Given the description of an element on the screen output the (x, y) to click on. 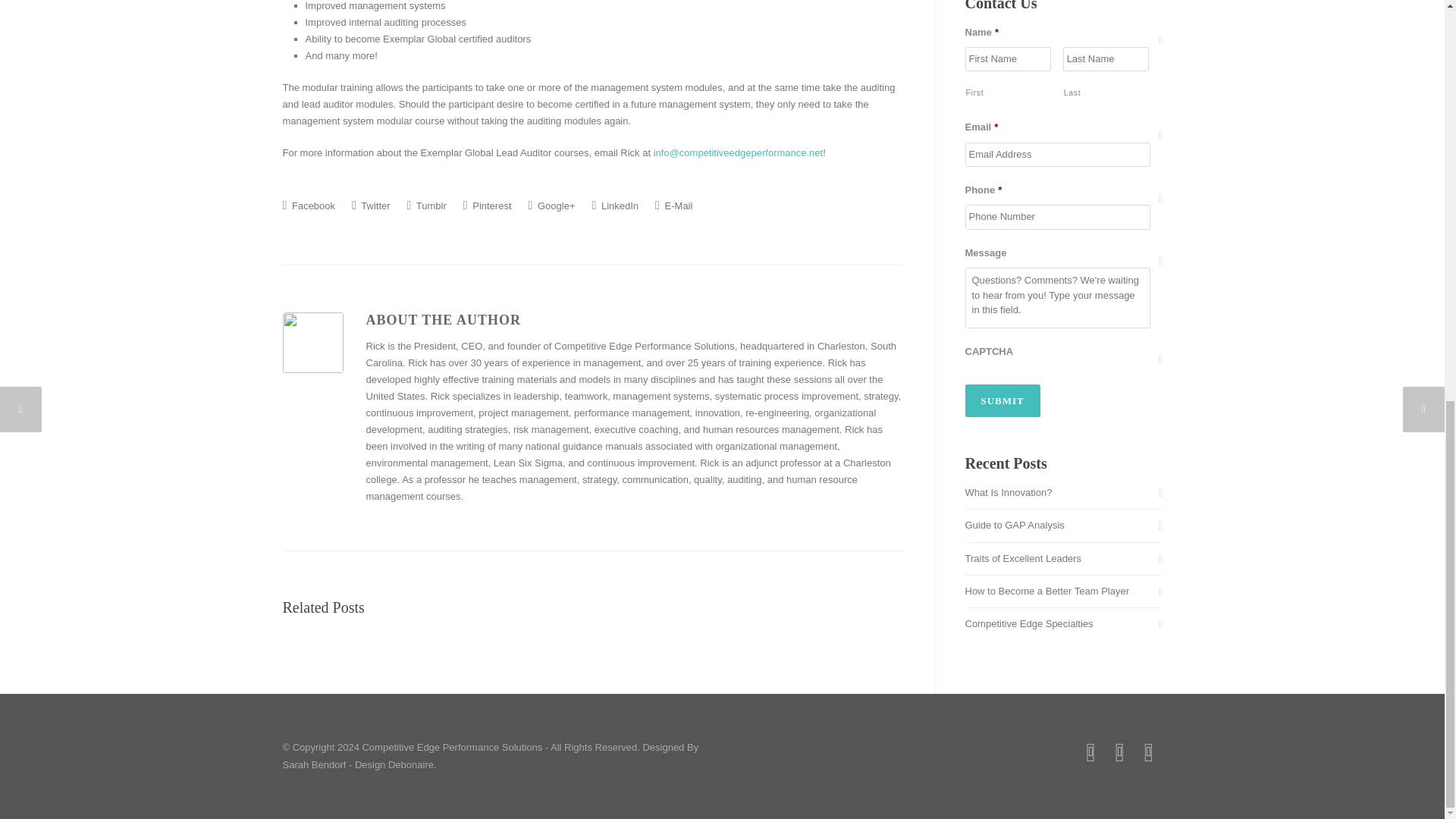
Facebook (308, 205)
Tumblr (426, 205)
Share via LinkedIn (615, 205)
Share via Pinterest (487, 205)
Share via E-Mail (674, 205)
Submit (1001, 400)
Share via Tumblr (426, 205)
Twitter (371, 205)
Pinterest (487, 205)
Share via Twitter (371, 205)
